Given the description of an element on the screen output the (x, y) to click on. 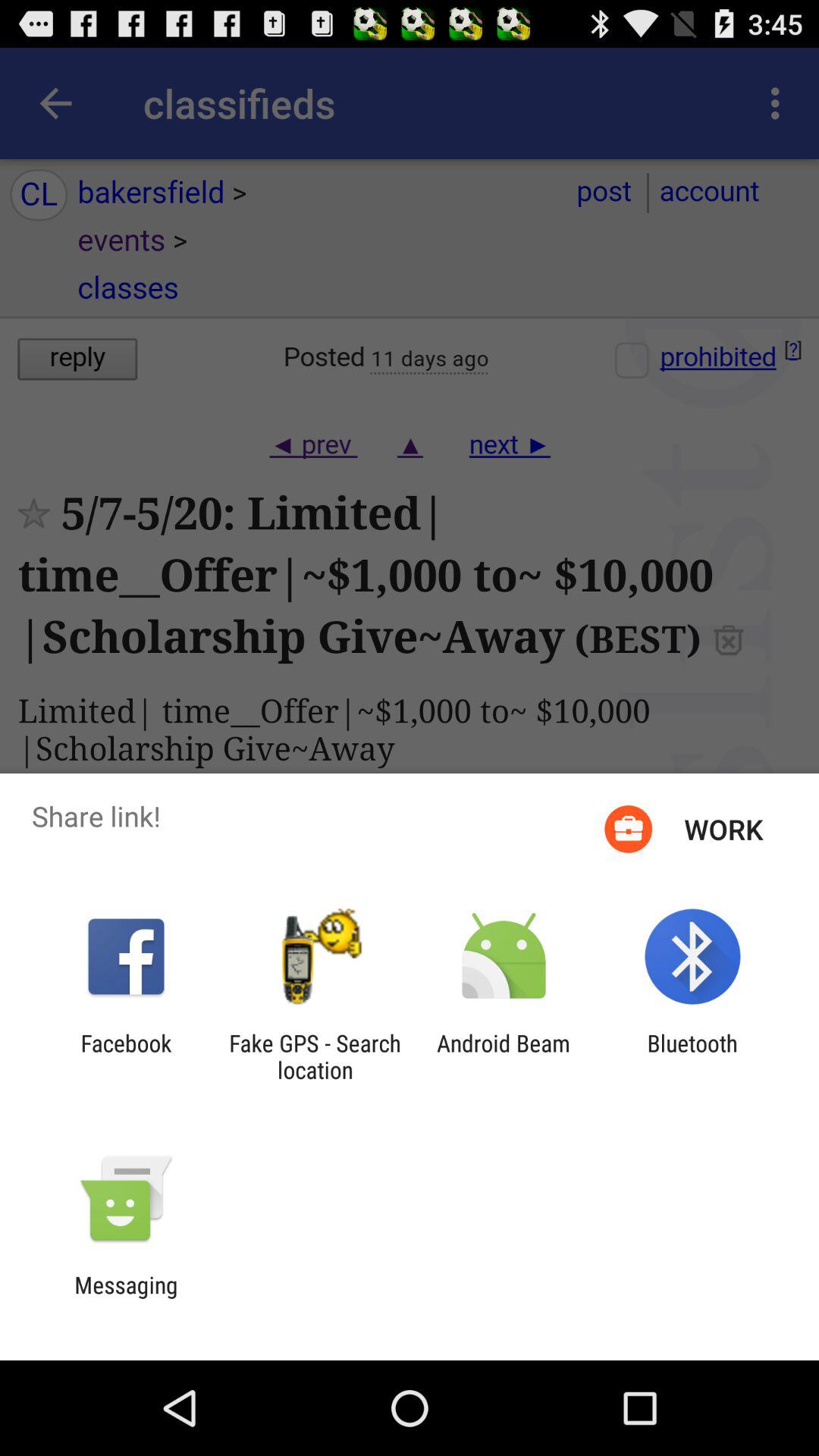
turn on the fake gps search icon (314, 1056)
